Given the description of an element on the screen output the (x, y) to click on. 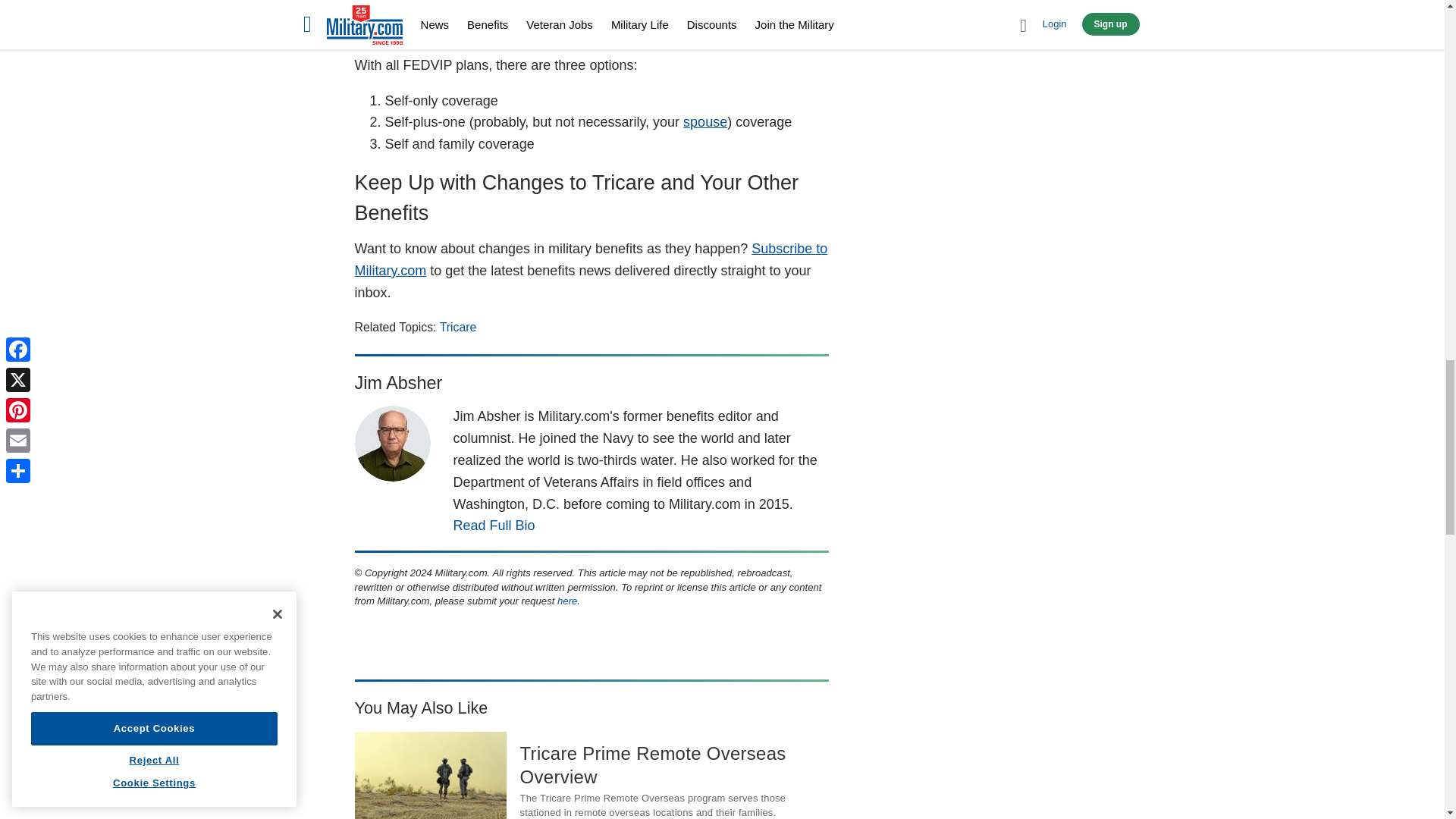
Jim Absher, Military.com (392, 443)
